Given the description of an element on the screen output the (x, y) to click on. 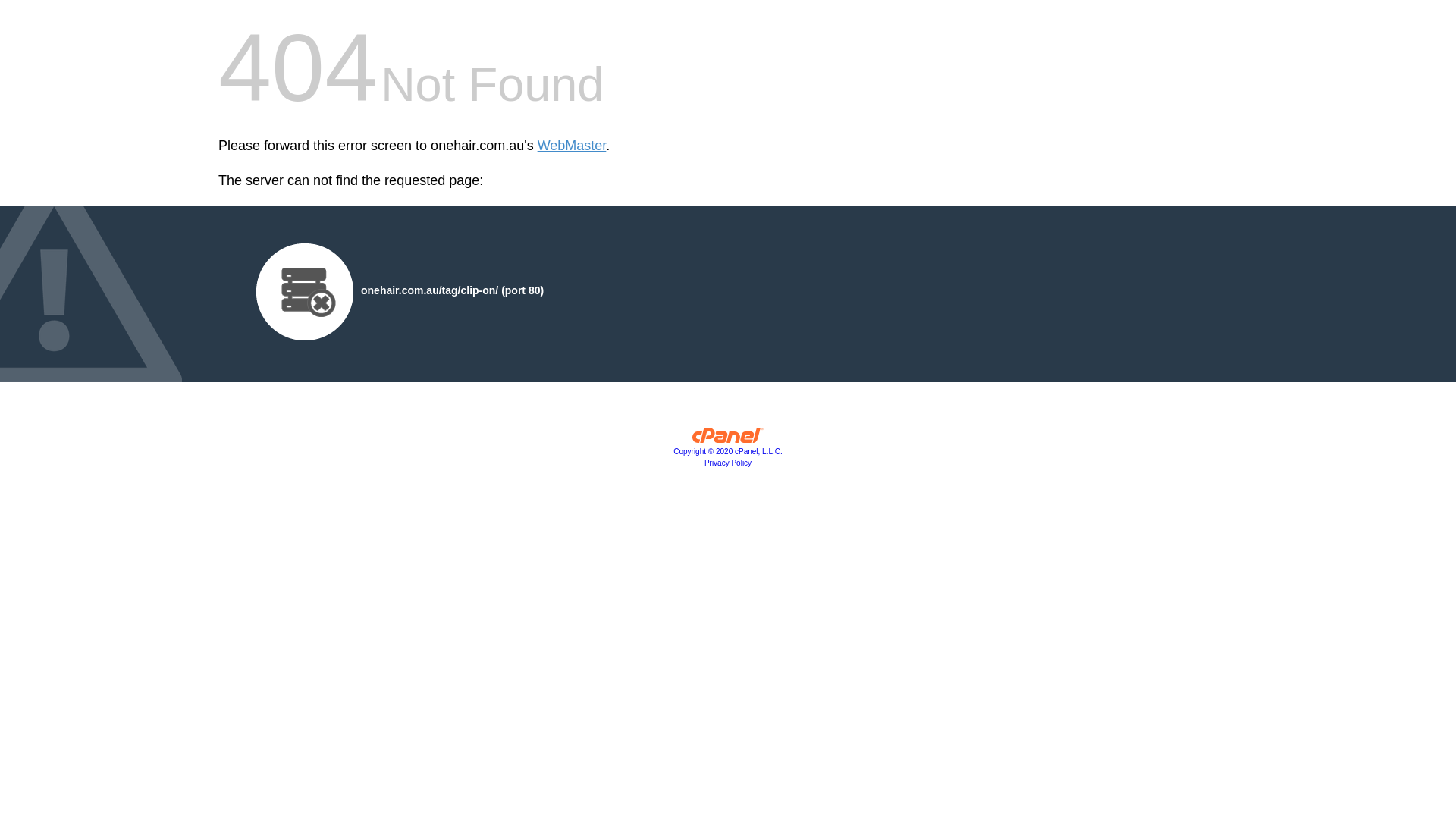
Privacy Policy Element type: text (727, 462)
WebMaster Element type: text (571, 145)
cPanel, Inc. Element type: hover (728, 439)
